Given the description of an element on the screen output the (x, y) to click on. 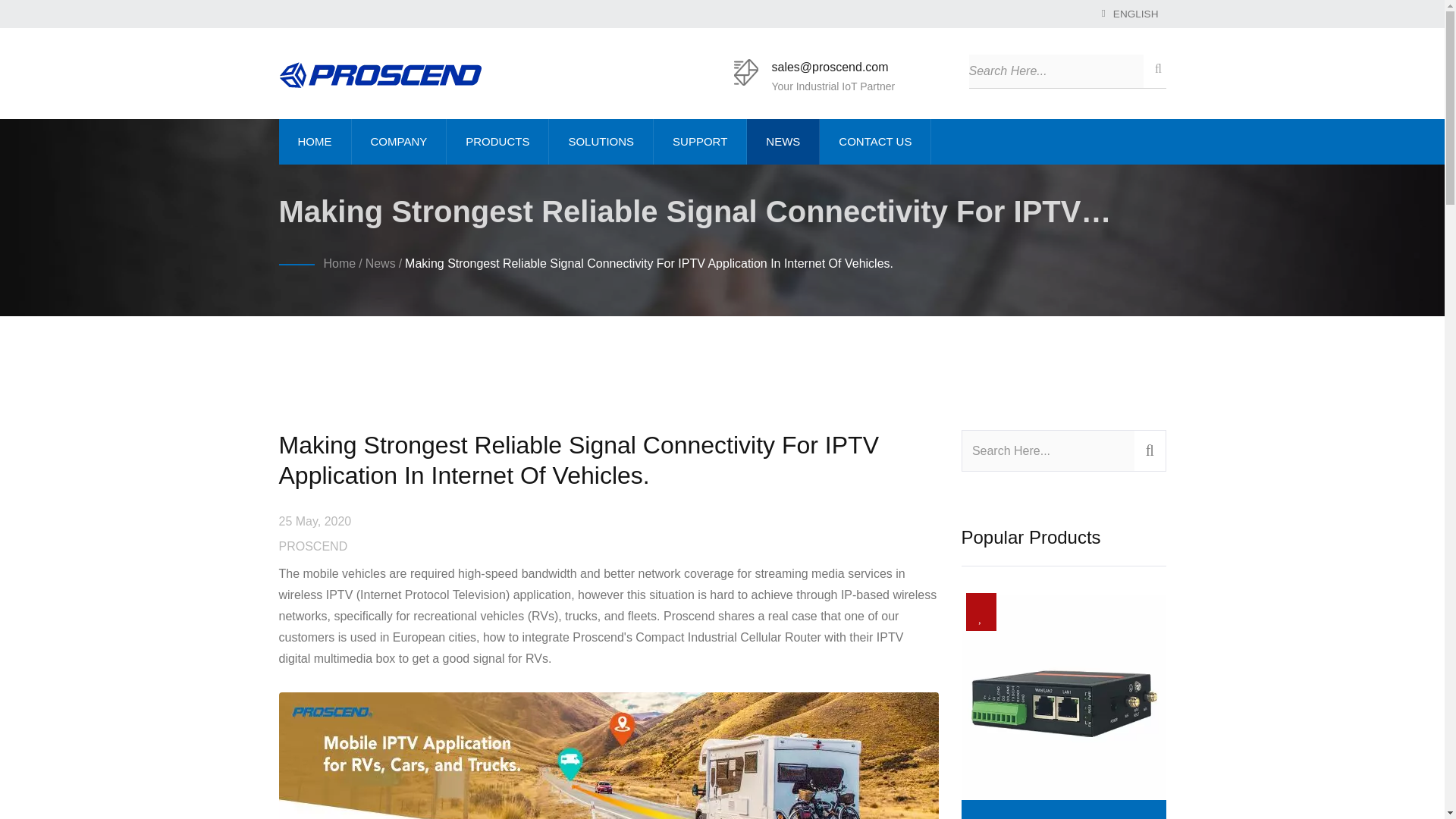
ENGLISH (1135, 14)
SOLUTIONS (600, 141)
COMPANY (399, 141)
Search Here... (1055, 70)
News (380, 263)
HOME (315, 141)
Search Here... (1047, 450)
SUPPORT (699, 141)
PRODUCTS (497, 141)
